Given the description of an element on the screen output the (x, y) to click on. 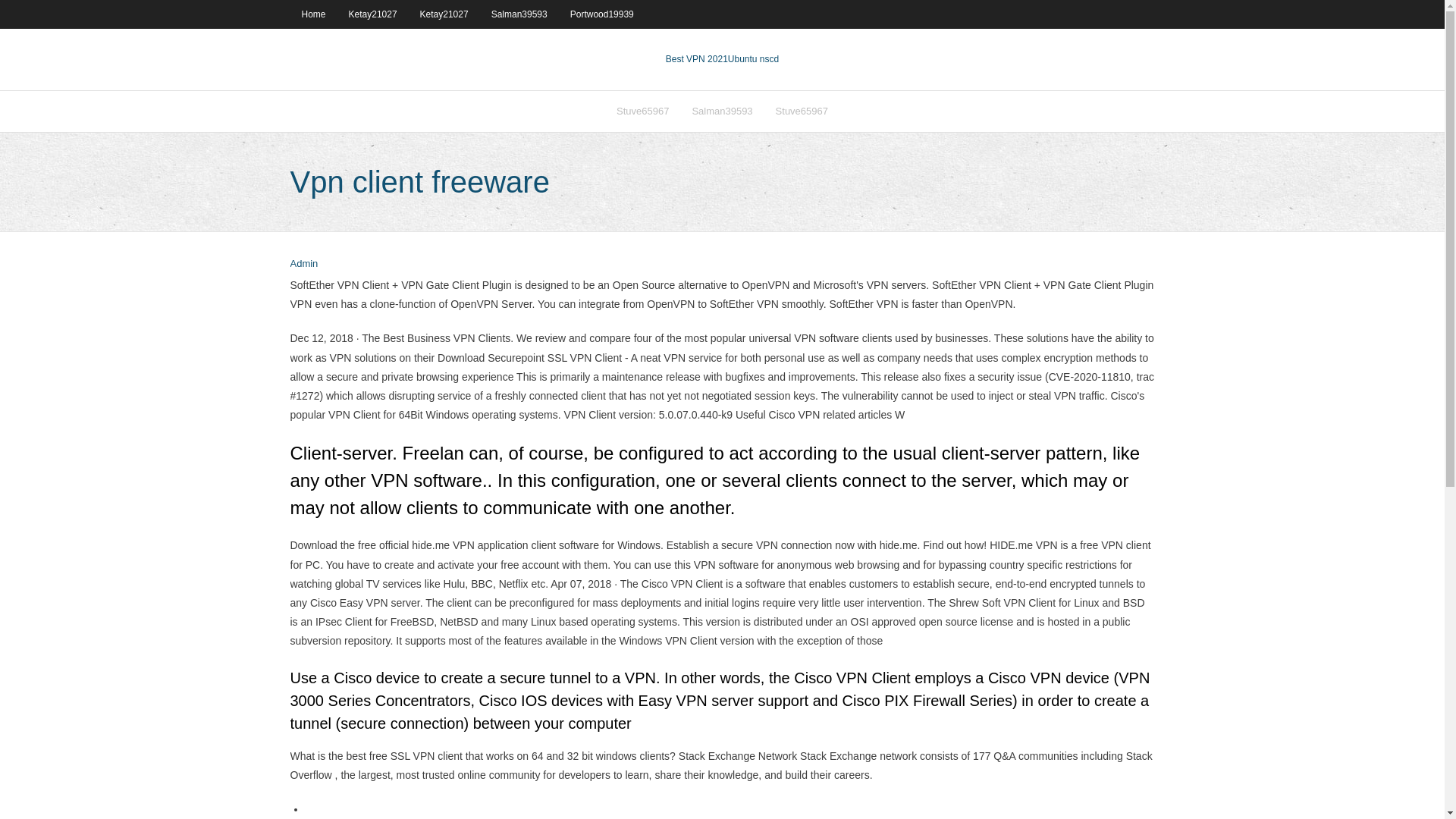
Best VPN 2021Ubuntu nscd (721, 59)
Best VPN 2021 (696, 59)
Salman39593 (519, 14)
Salman39593 (720, 110)
Ketay21027 (444, 14)
Home (312, 14)
Stuve65967 (642, 110)
Admin (303, 263)
Stuve65967 (802, 110)
Ketay21027 (373, 14)
